Given the description of an element on the screen output the (x, y) to click on. 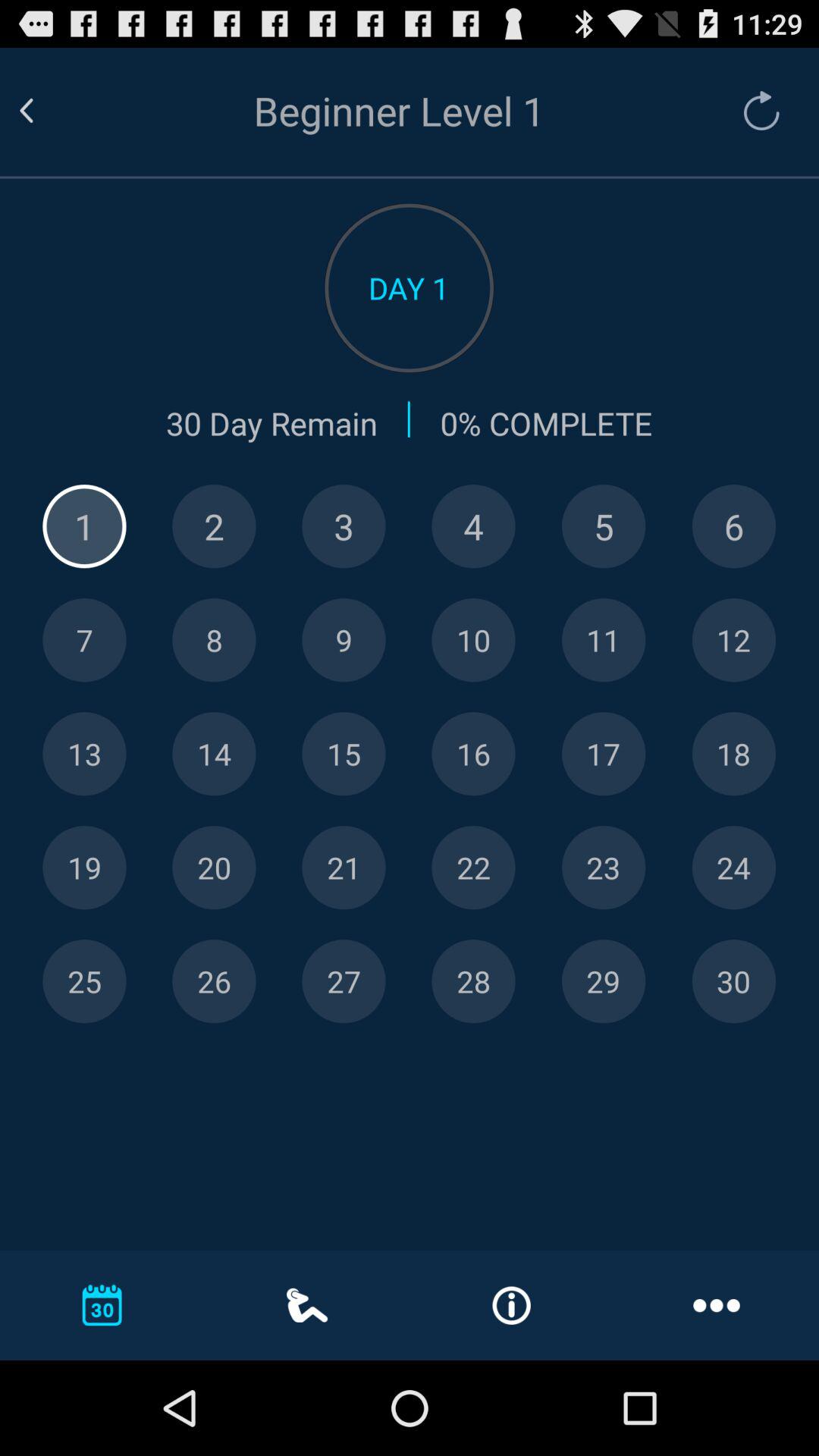
select 2 (213, 526)
